Given the description of an element on the screen output the (x, y) to click on. 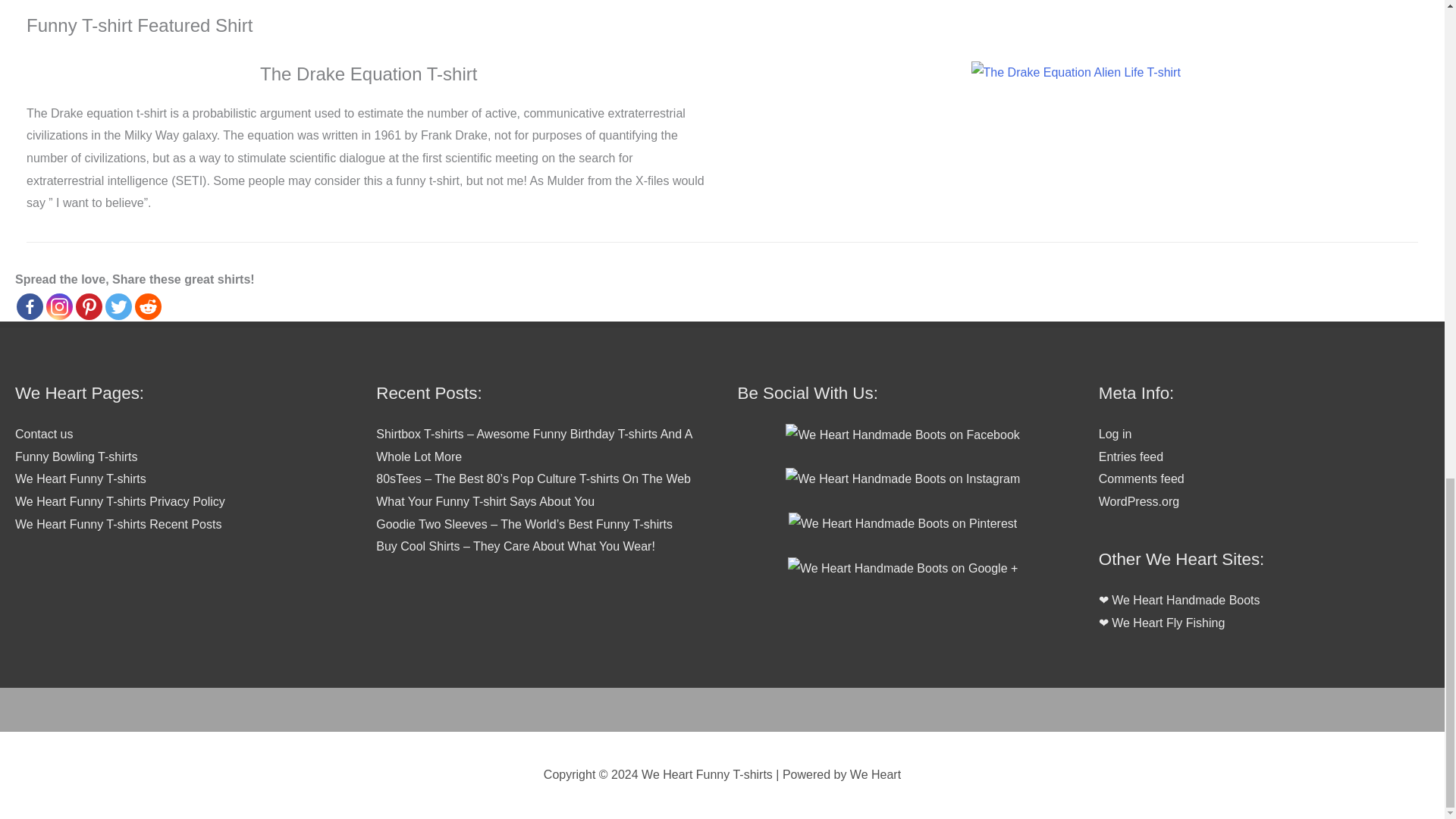
What Your Funny T-shirt Says About You (484, 501)
We Heart Funny T-shirts Recent Posts (117, 523)
We Heart Funny T-shirts (80, 478)
Pinterest (88, 306)
Instagram (59, 306)
Facebook (29, 306)
Reddit (148, 306)
Twitter (118, 306)
Contact us (43, 433)
We Heart Funny T-shirts Privacy Policy (119, 501)
Funny Bowling T-shirts (76, 456)
